Given the description of an element on the screen output the (x, y) to click on. 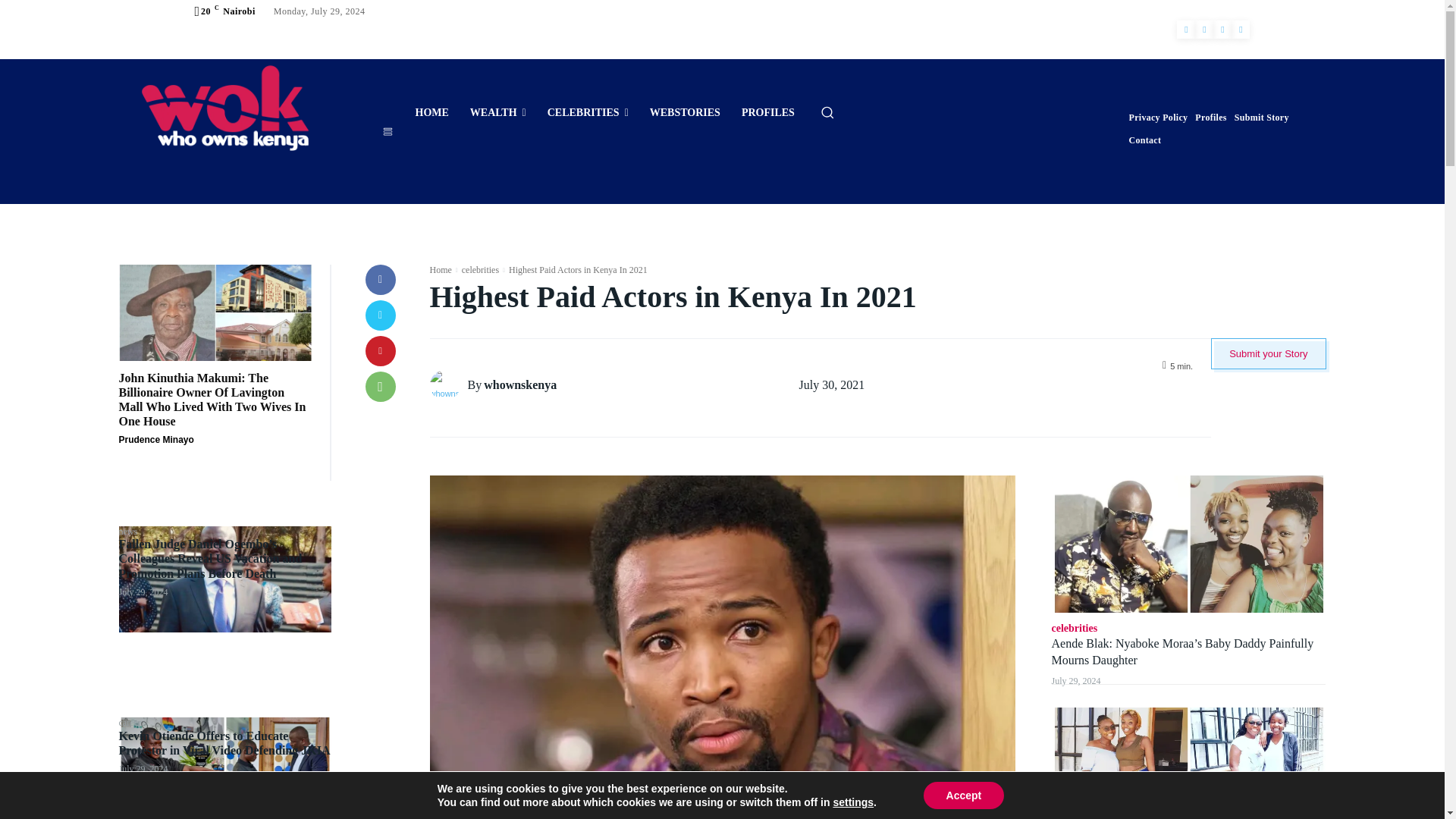
Facebook (1185, 29)
Instagram (1203, 29)
Youtube (1240, 29)
Twitter (1221, 29)
